Given the description of an element on the screen output the (x, y) to click on. 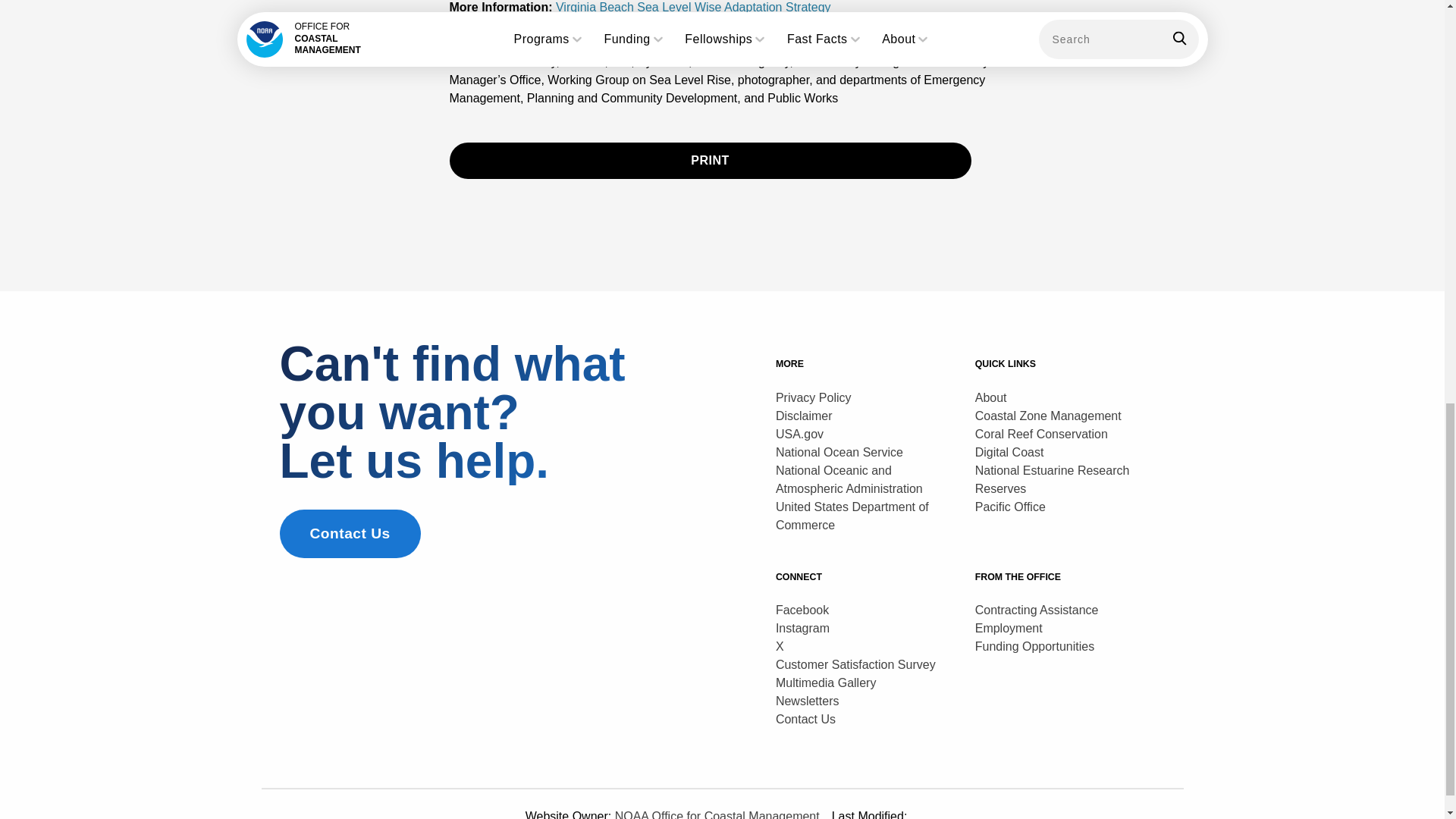
National Oceanic and Atmospheric Administration (849, 479)
USA.gov (800, 433)
Contact Us (349, 533)
Visit this (693, 6)
National Ocean Service (839, 451)
Disclaimer (804, 415)
Privacy Policy (813, 397)
United States Department of Commerce (852, 515)
PRINT (709, 160)
Virginia Beach Sea Level Wise Adaptation Strategy (693, 6)
